Given the description of an element on the screen output the (x, y) to click on. 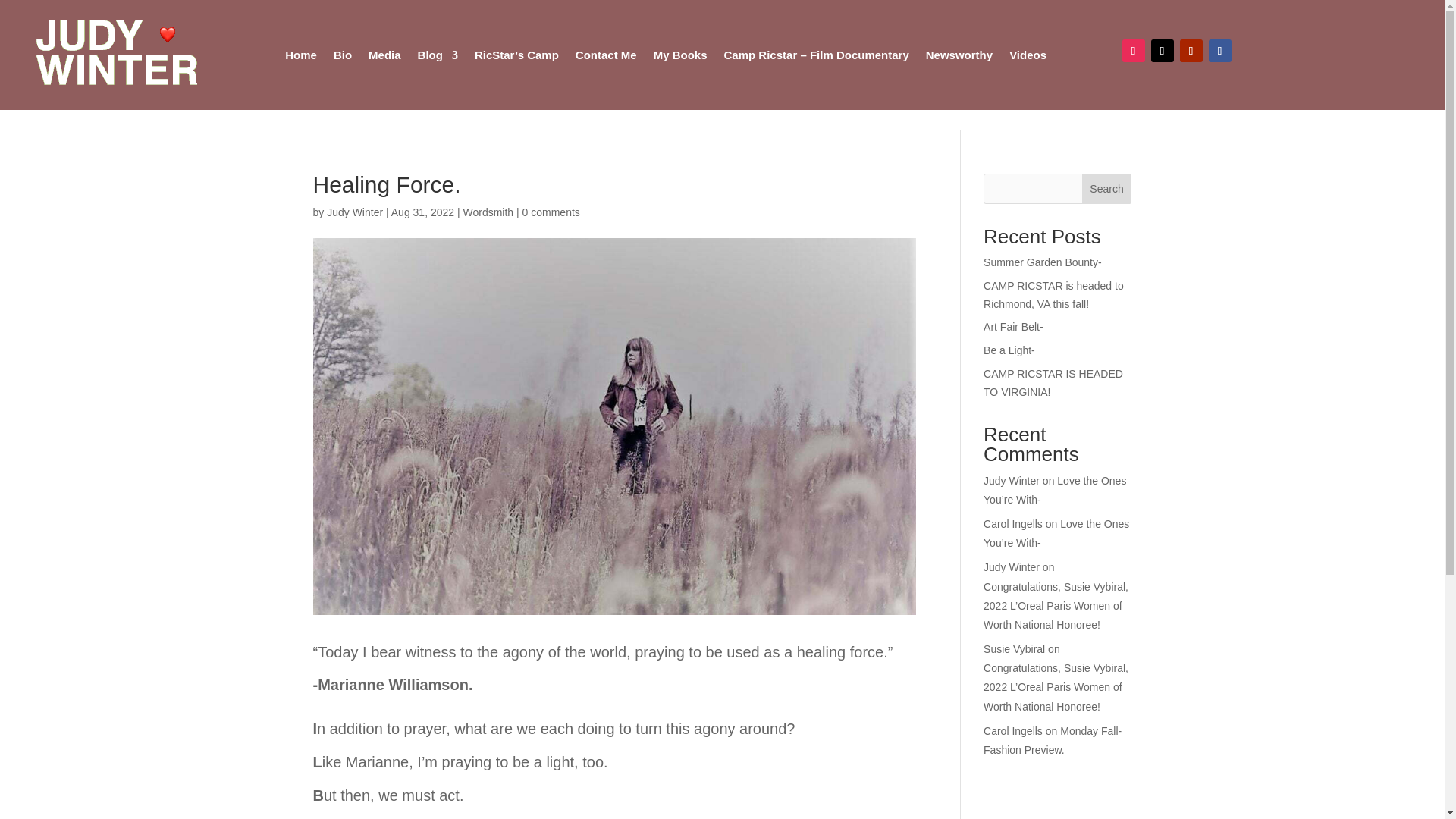
Follow on Facebook (1219, 50)
Posts by Judy Winter (354, 212)
Newsworthy (959, 54)
Follow on X (1162, 50)
Contact Me (606, 54)
Follow on Youtube (1190, 50)
Follow on Instagram (1133, 50)
